Given the description of an element on the screen output the (x, y) to click on. 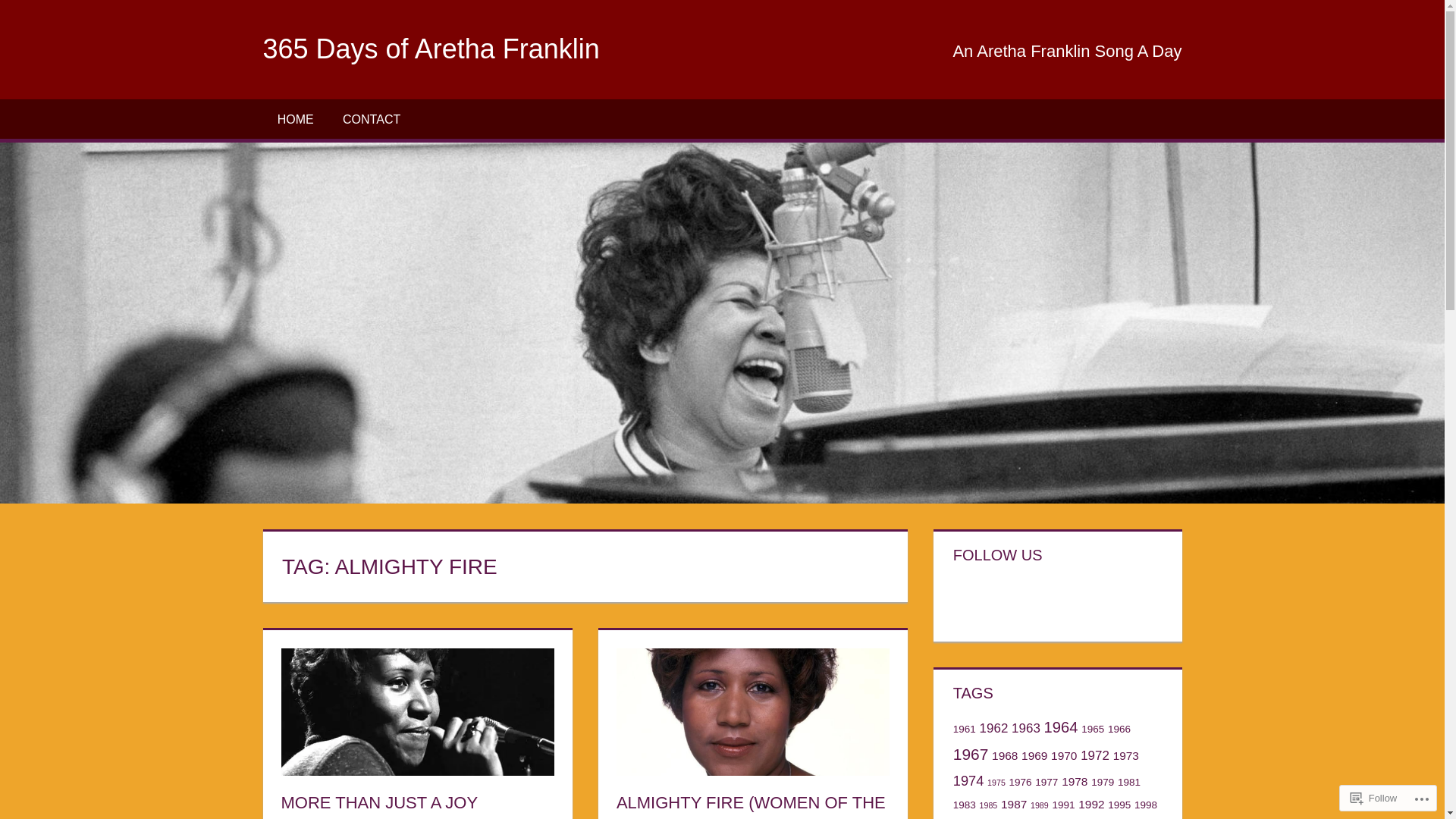
Follow Element type: text (1373, 797)
1964 Element type: text (1061, 726)
1970 Element type: text (1063, 755)
1961 Element type: text (964, 728)
1983 Element type: text (964, 804)
1992 Element type: text (1091, 803)
1974 Element type: text (968, 780)
1998 Element type: text (1145, 804)
1967 Element type: text (970, 753)
1995 Element type: text (1118, 804)
365 Days of Aretha Franklin Element type: text (430, 48)
1973 Element type: text (1126, 755)
HOME Element type: text (294, 118)
1991 Element type: text (1062, 804)
1968 Element type: text (1004, 755)
1987 Element type: text (1013, 803)
1965 Element type: text (1092, 728)
MORE THAN JUST A JOY Element type: text (378, 802)
1972 Element type: text (1094, 755)
1978 Element type: text (1074, 781)
CONTACT Element type: text (371, 118)
1966 Element type: text (1118, 728)
1962 Element type: text (993, 728)
1989 Element type: text (1039, 804)
1985 Element type: text (988, 804)
1977 Element type: text (1046, 781)
1976 Element type: text (1020, 781)
1975 Element type: text (996, 782)
1969 Element type: text (1034, 755)
1963 Element type: text (1025, 728)
1979 Element type: text (1102, 781)
1981 Element type: text (1128, 781)
